Given the description of an element on the screen output the (x, y) to click on. 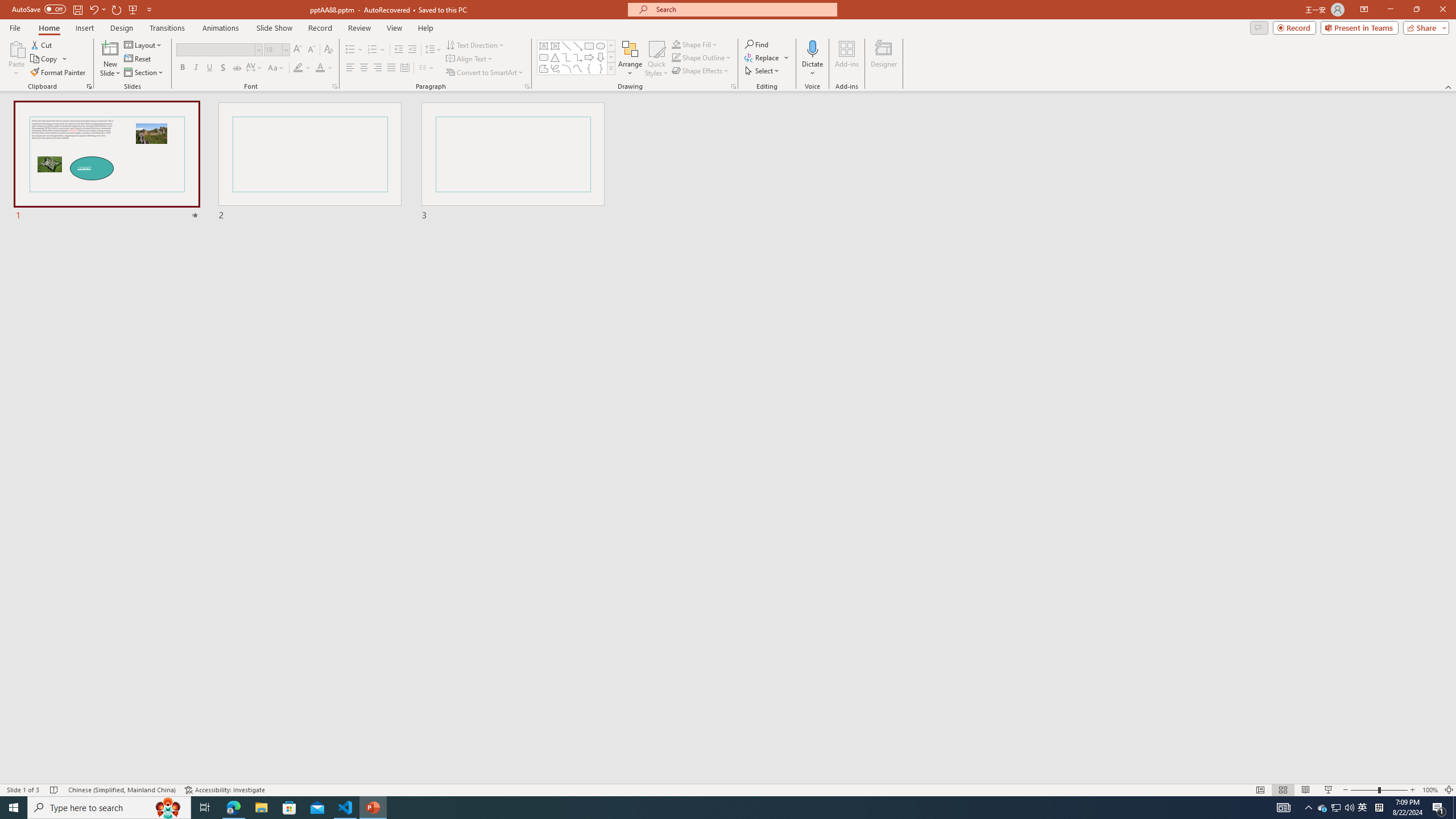
Shape Outline Teal, Accent 1 (675, 56)
